Given the description of an element on the screen output the (x, y) to click on. 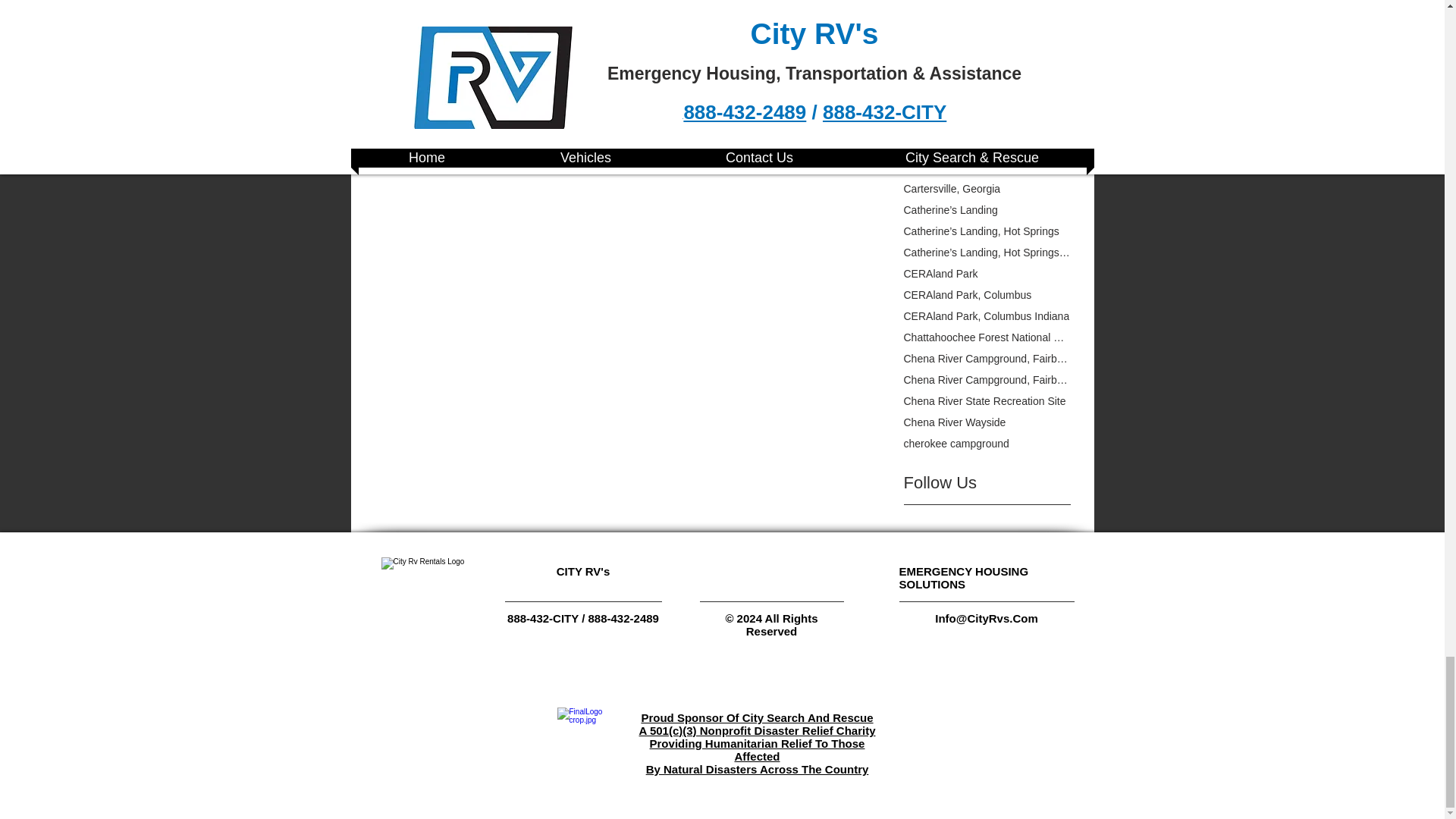
CITY RV RENTALS.png (422, 591)
